Given the description of an element on the screen output the (x, y) to click on. 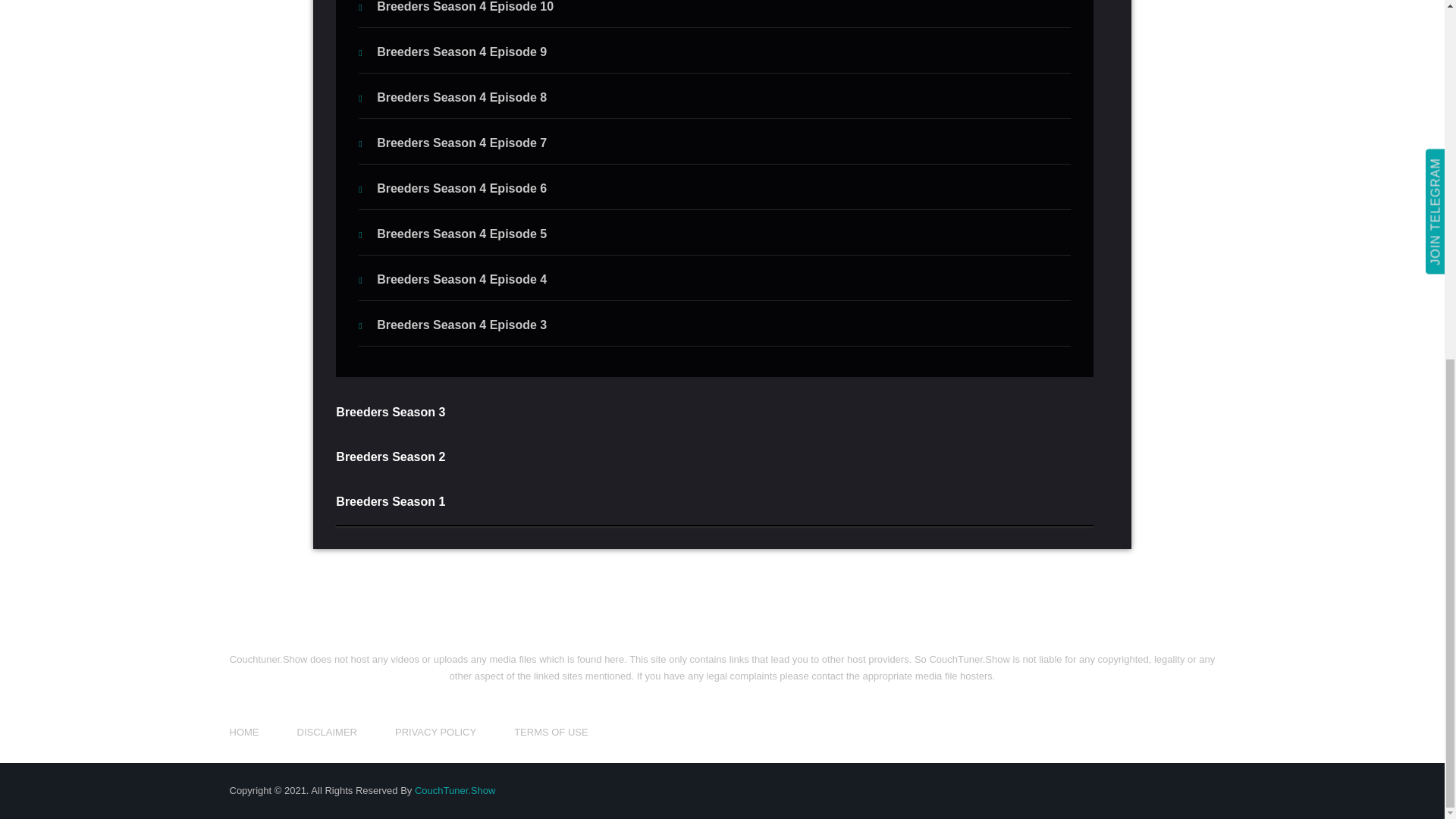
Breeders Season 3 (714, 412)
Breeders Season 4 Episode 7  (454, 142)
Breeders Season 4 Episode 4 (452, 278)
Breeders Season 3 (390, 411)
Breeders Season 4 Episode 9 (452, 51)
Breeders Season 4 Episode 5 (452, 233)
Breeders Season 4 Episode 3 (452, 324)
Breeders Season 4 Episode 10 (455, 6)
Breeders Season 4 Episode 8 (452, 97)
Breeders Season 4 Episode 6 (452, 187)
